Given the description of an element on the screen output the (x, y) to click on. 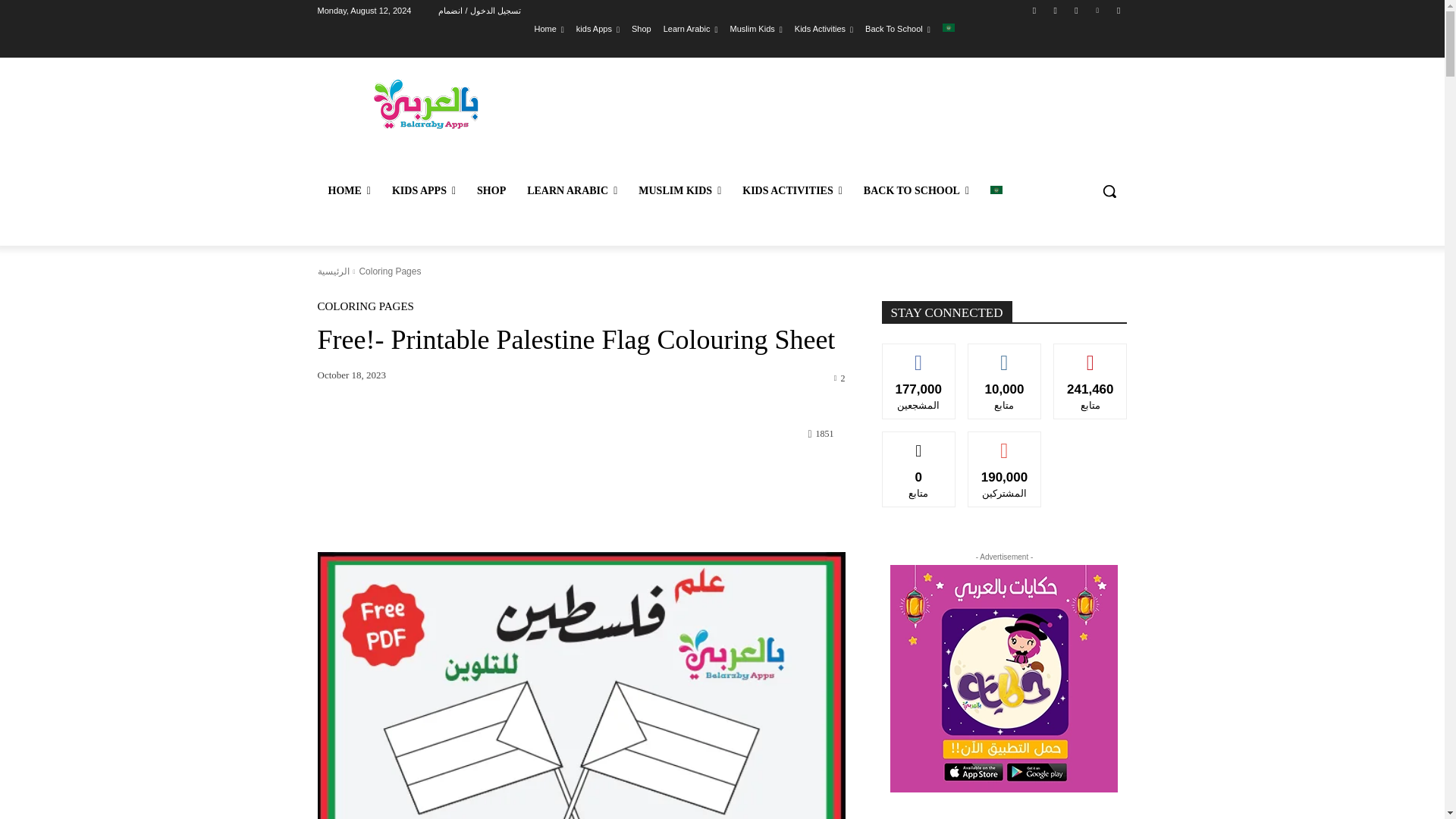
Instagram (1055, 9)
Youtube (1117, 9)
Belaraby Apps (425, 103)
Belaraby Apps (425, 103)
Twitter (1075, 9)
Facebook (1034, 9)
Vimeo (1097, 9)
